Given the description of an element on the screen output the (x, y) to click on. 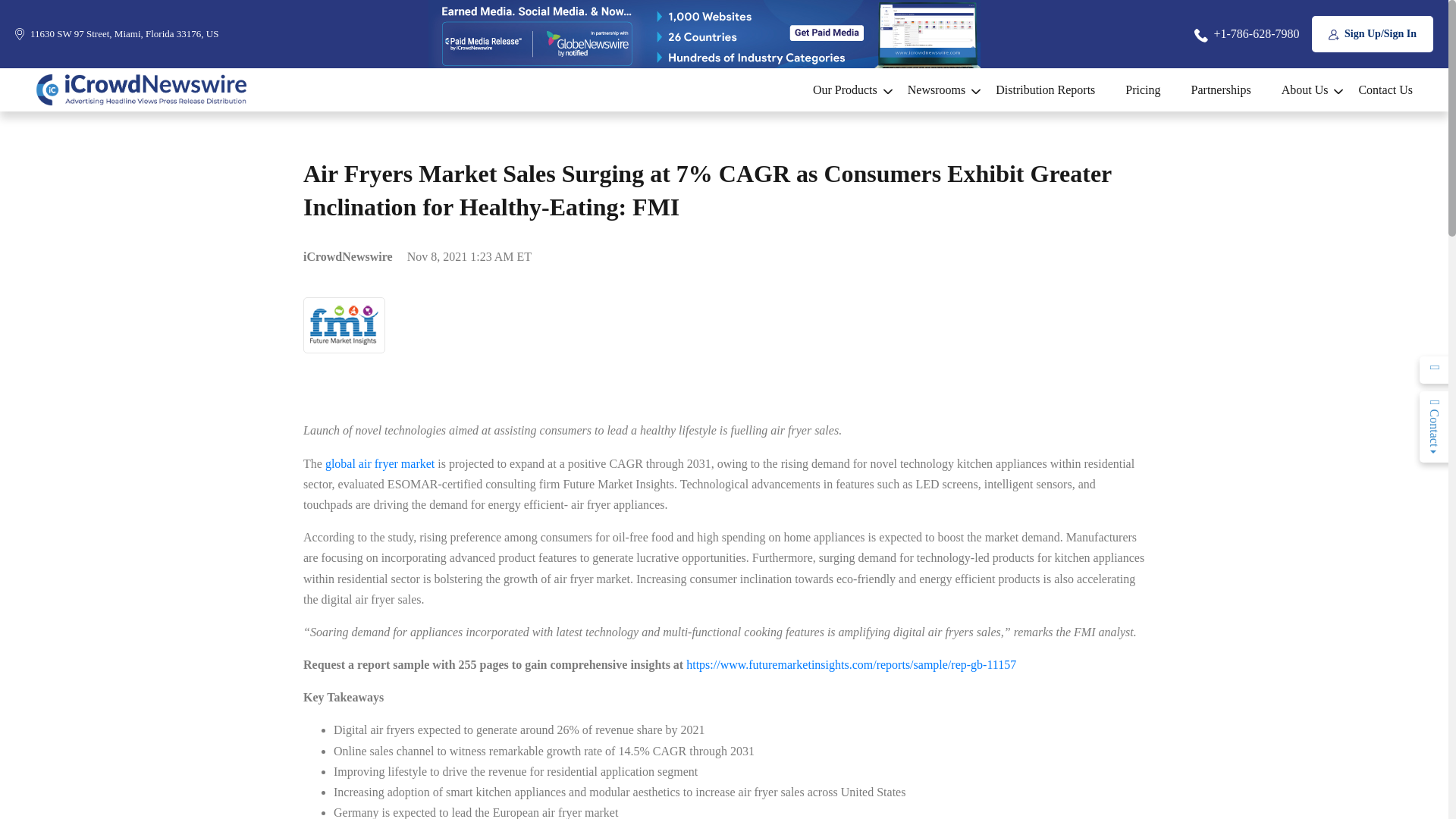
About Us (1304, 89)
Our Products (844, 89)
Distribution Reports (1044, 89)
Newsrooms (935, 89)
Pricing (1141, 89)
Contact Us (1377, 89)
Partnerships (1221, 89)
